Given the description of an element on the screen output the (x, y) to click on. 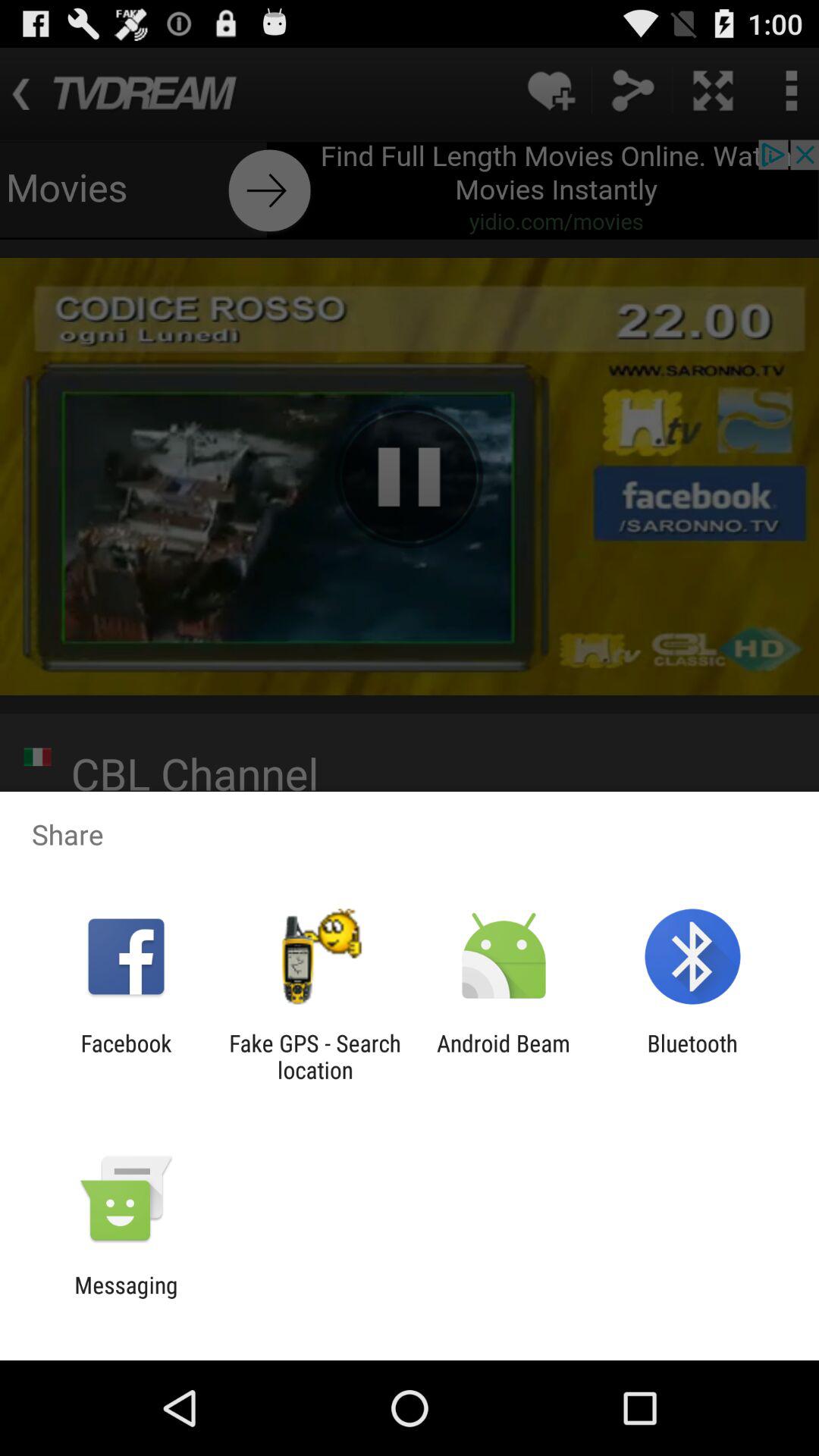
turn off item next to fake gps search item (503, 1056)
